Given the description of an element on the screen output the (x, y) to click on. 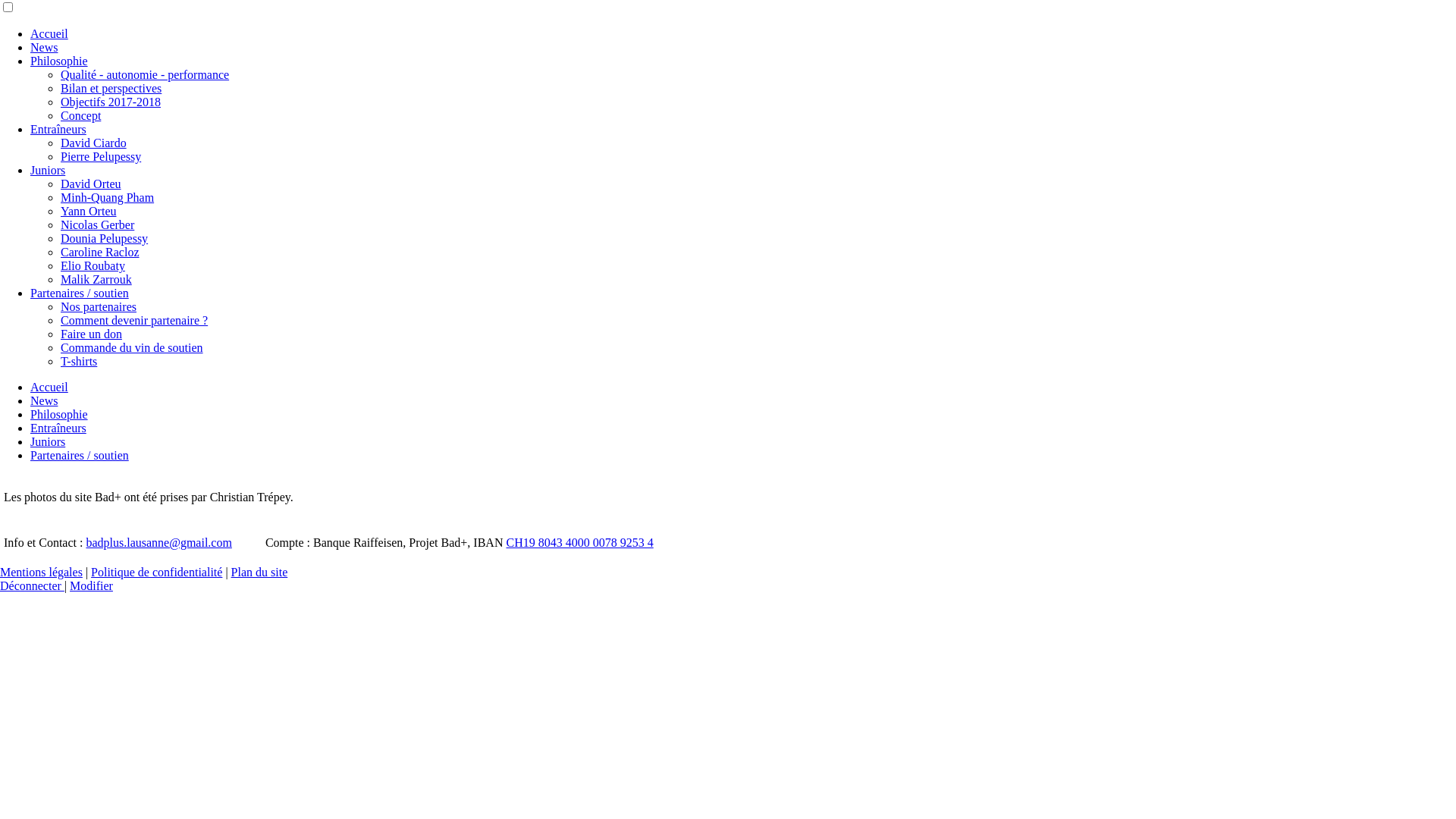
David Ciardo Element type: text (93, 142)
Philosophie Element type: text (58, 413)
Concept Element type: text (80, 115)
Juniors Element type: text (47, 169)
Minh-Quang Pham Element type: text (106, 197)
Dounia Pelupessy Element type: text (103, 238)
Nos partenaires Element type: text (98, 306)
Partenaires / soutien Element type: text (79, 454)
Pierre Pelupessy Element type: text (100, 156)
Accueil Element type: text (49, 33)
Malik Zarrouk Element type: text (95, 279)
CH19 8043 4000 0078 9253 4 Element type: text (578, 542)
Juniors Element type: text (47, 441)
Commande du vin de soutien Element type: text (131, 347)
Modifier Element type: text (90, 585)
T-shirts Element type: text (78, 360)
Faire un don Element type: text (91, 333)
Elio Roubaty Element type: text (92, 265)
Comment devenir partenaire ? Element type: text (133, 319)
Accueil Element type: text (49, 386)
Plan du site Element type: text (259, 571)
Yann Orteu Element type: text (88, 210)
Caroline Racloz Element type: text (99, 251)
News Element type: text (43, 400)
Bilan et perspectives Element type: text (110, 87)
badplus.lausanne@gmail.com Element type: text (158, 542)
Objectifs 2017-2018 Element type: text (110, 101)
Nicolas Gerber Element type: text (97, 224)
Partenaires / soutien Element type: text (79, 292)
David Orteu Element type: text (90, 183)
News Element type: text (43, 46)
Philosophie Element type: text (58, 60)
